Given the description of an element on the screen output the (x, y) to click on. 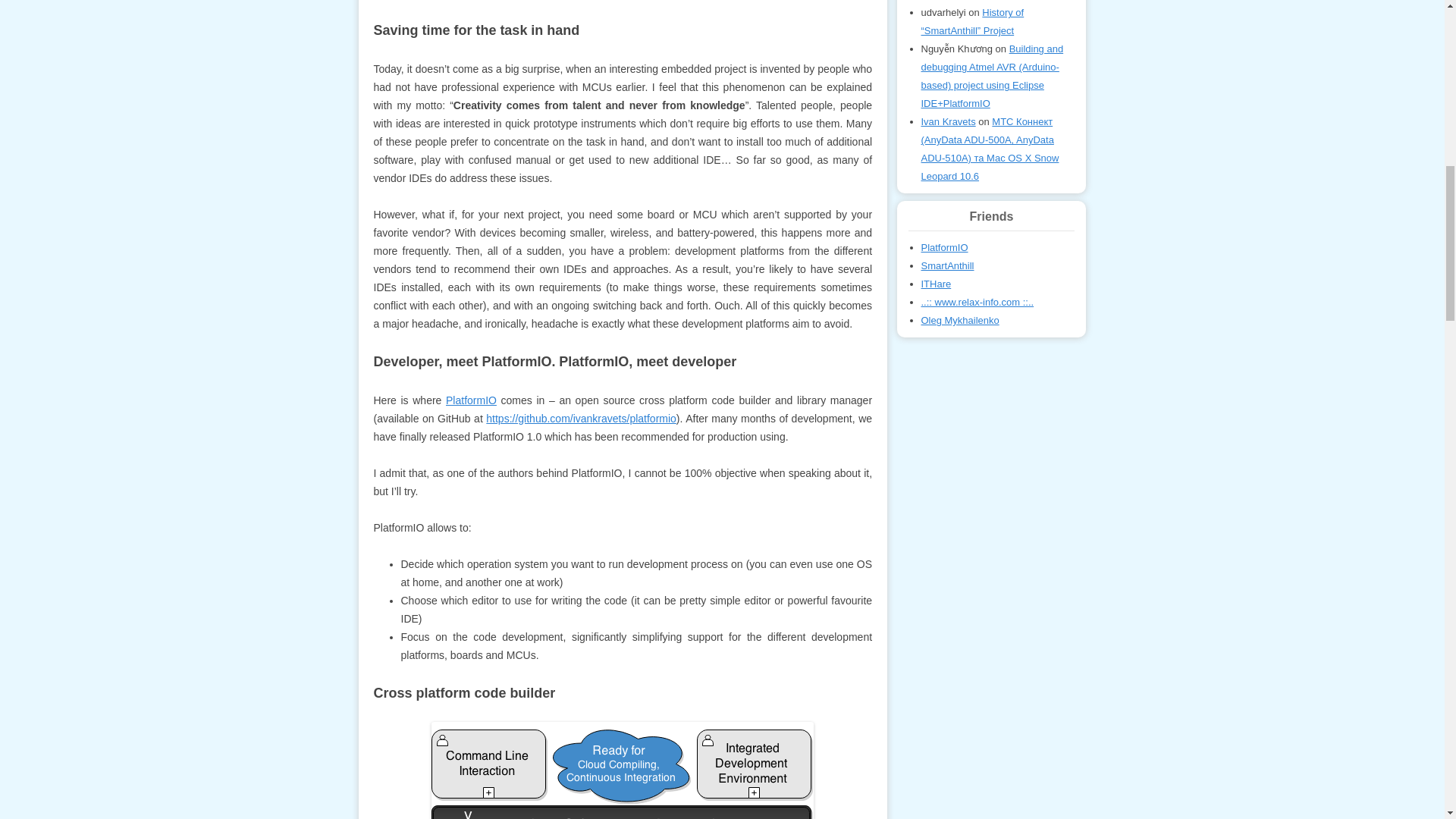
An open IoT system (947, 265)
PlatformIO (470, 399)
IT Hare on Soft.ware (935, 283)
